Given the description of an element on the screen output the (x, y) to click on. 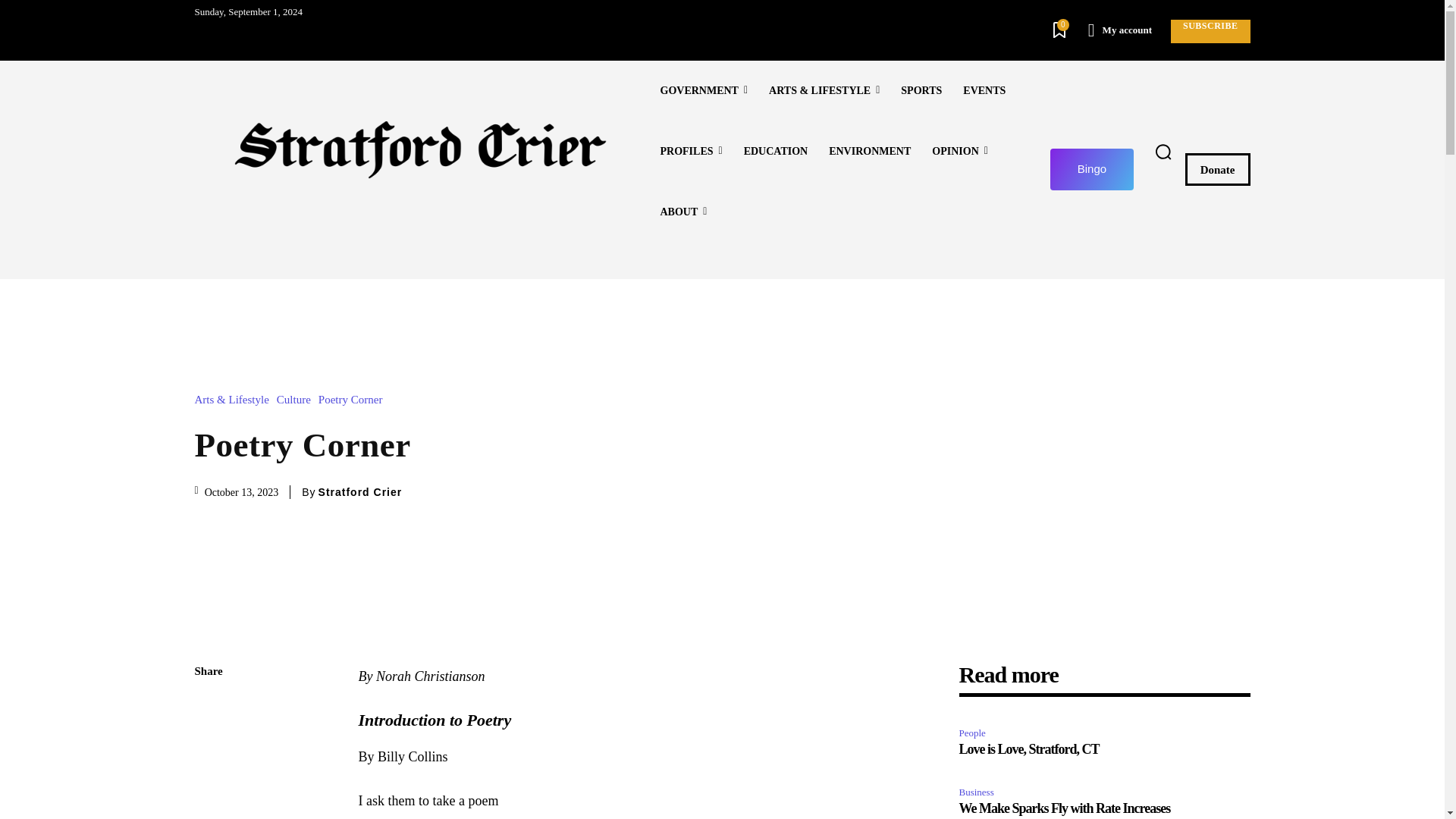
Subscribe (1210, 31)
Bingo (1091, 169)
Donate (1217, 169)
